Given the description of an element on the screen output the (x, y) to click on. 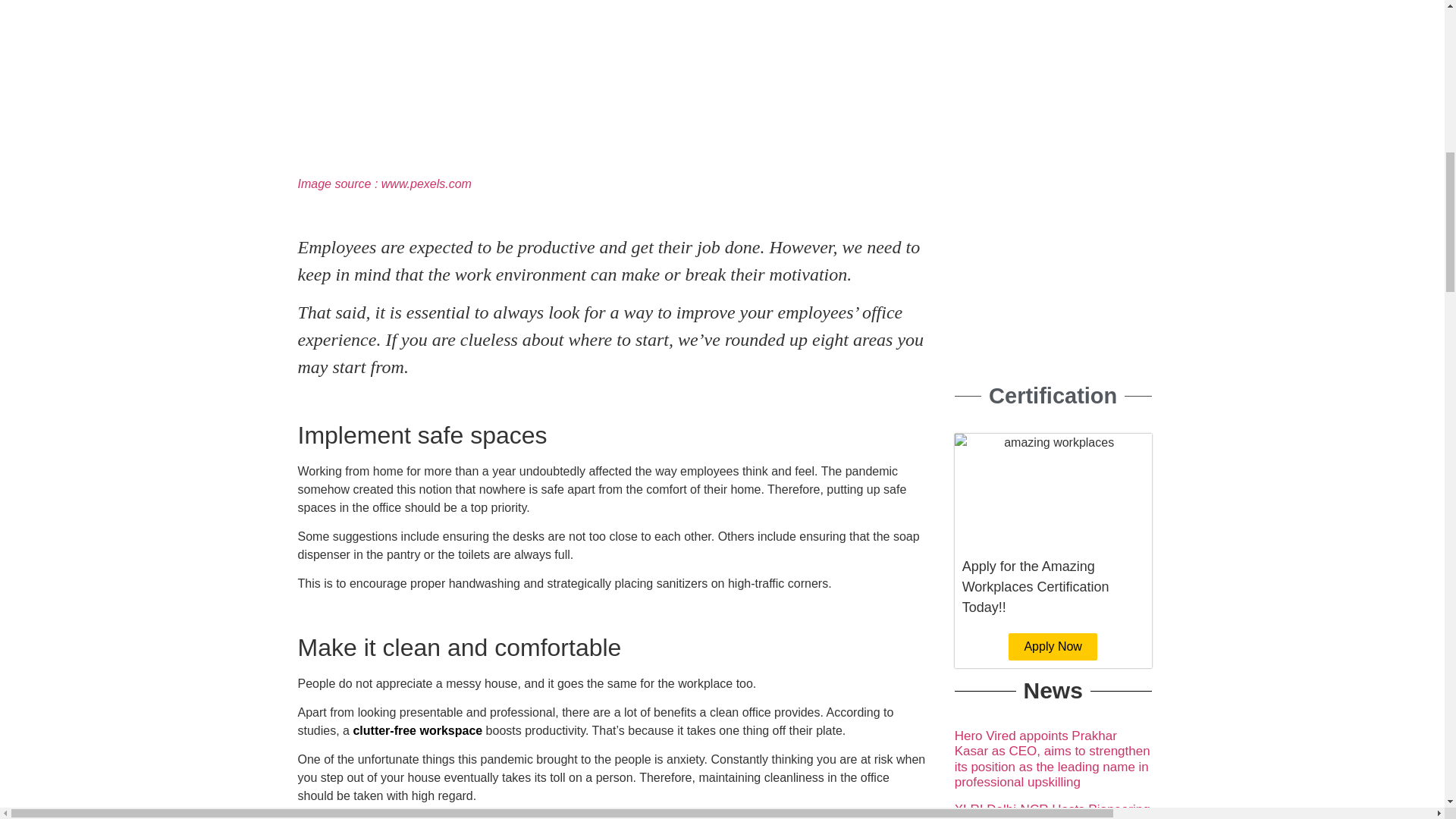
clutter-free workspace (416, 730)
Apply Now (1052, 646)
Image source : www.pexels.com (383, 183)
